Given the description of an element on the screen output the (x, y) to click on. 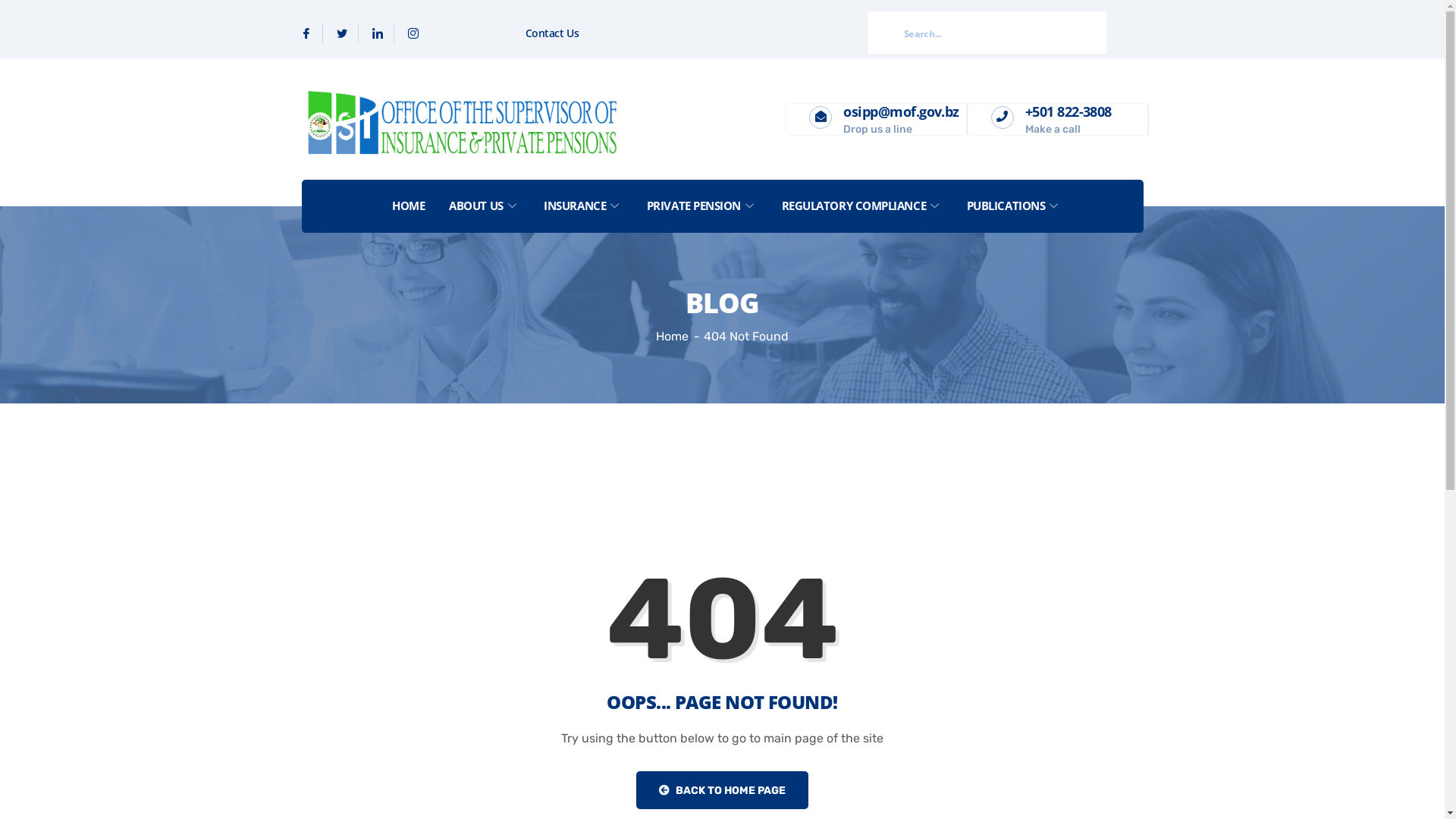
PUBLICATIONS Element type: text (1009, 205)
REGULATORY COMPLIANCE Element type: text (857, 205)
INSURANCE Element type: text (578, 205)
Contact Us Element type: text (551, 32)
Home Element type: text (671, 336)
BACK TO HOME PAGE Element type: text (722, 790)
ABOUT US Element type: text (479, 205)
HOME Element type: text (403, 205)
PRIVATE PENSION Element type: text (697, 205)
